Given the description of an element on the screen output the (x, y) to click on. 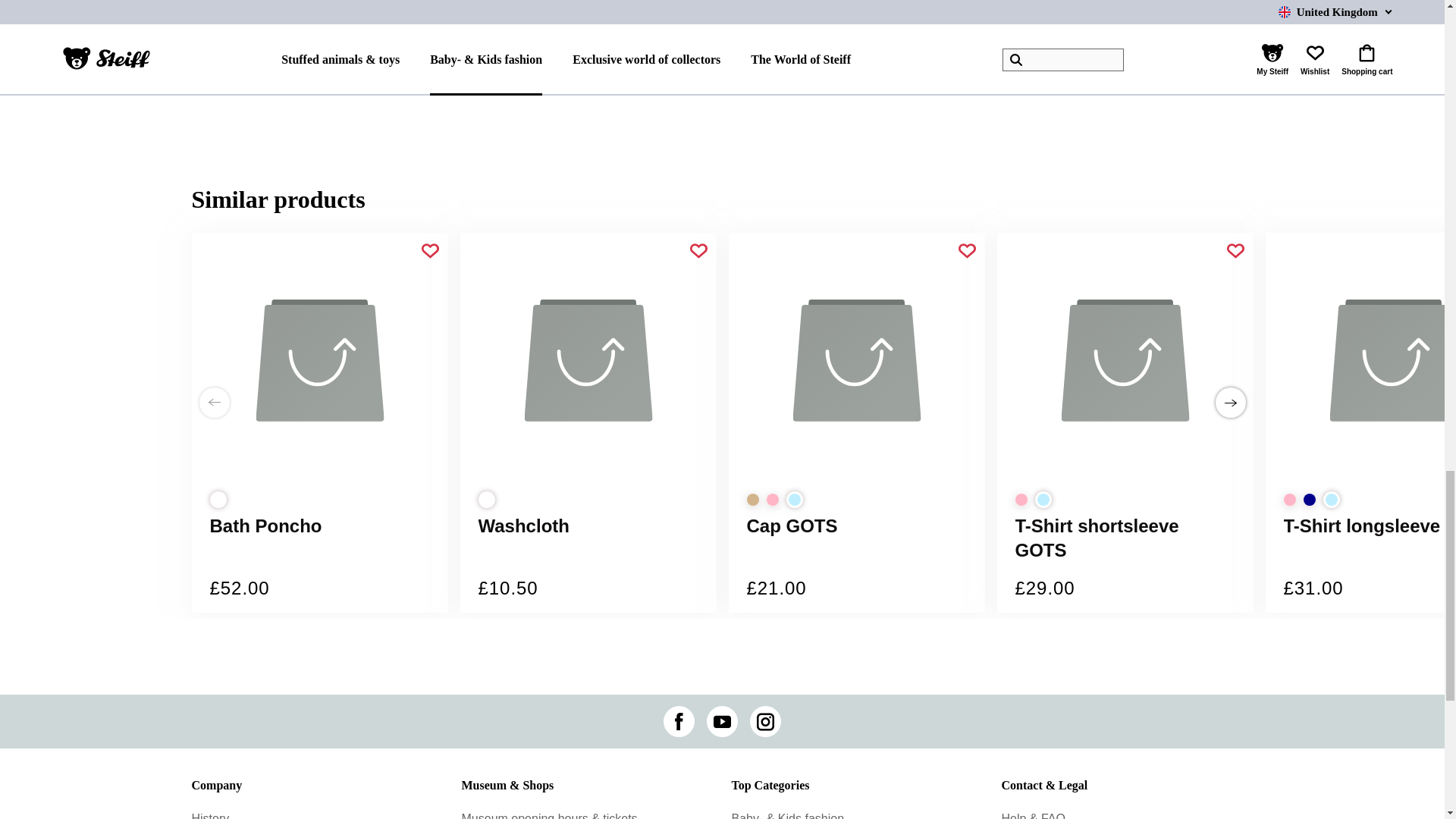
light blue (794, 499)
rose (771, 499)
beige (751, 499)
light blue (1330, 499)
rose (1288, 499)
rose (1020, 499)
white (217, 499)
white (486, 499)
light blue (1042, 499)
dark blue (1308, 499)
